Given the description of an element on the screen output the (x, y) to click on. 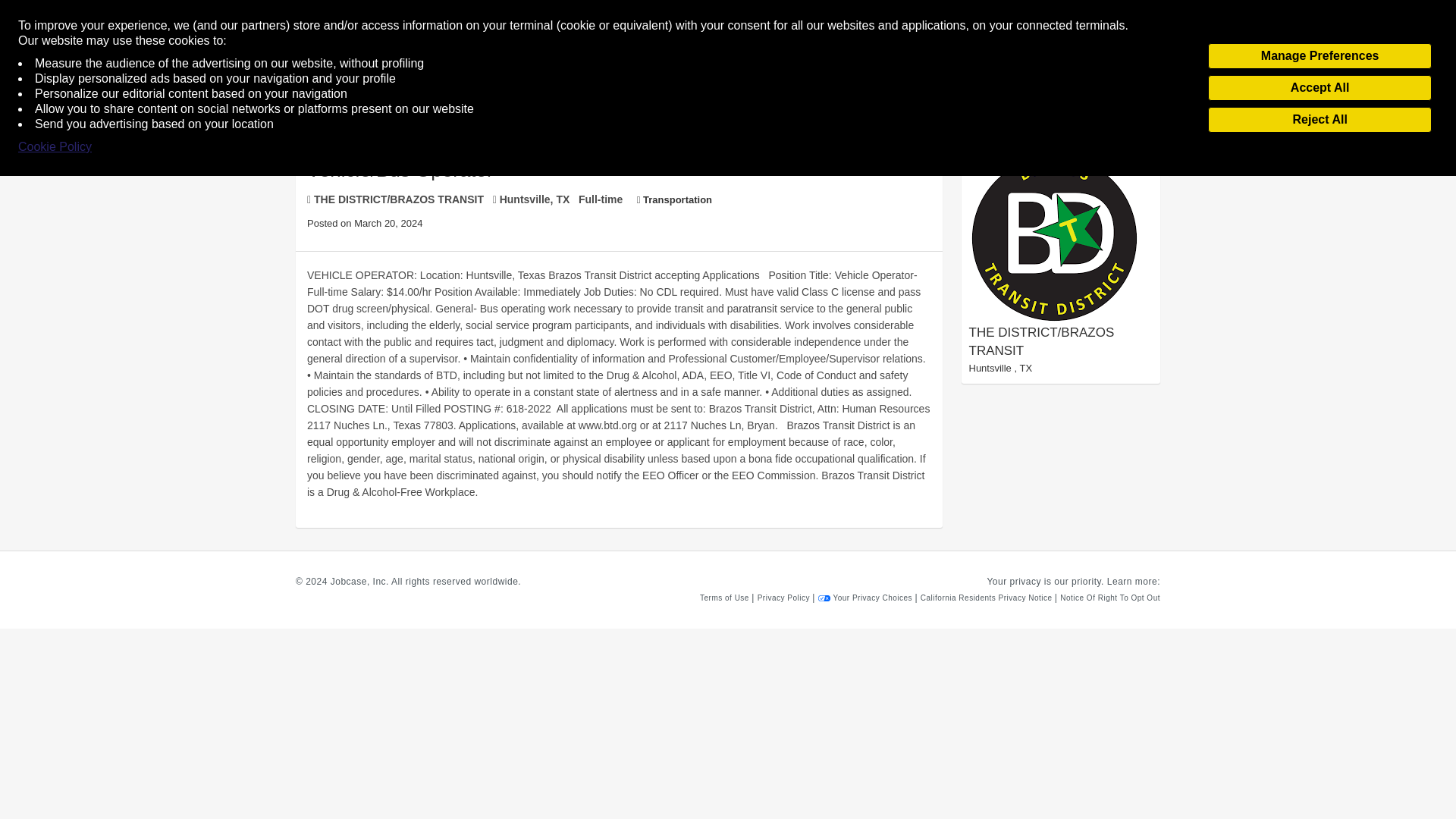
Cookie Policy (54, 146)
Notice Of Right To Opt Out (1109, 597)
Your Privacy Choices (866, 597)
Manage Preferences (1319, 55)
Terms of Use (725, 597)
Reject All (1319, 119)
Back to Results (335, 75)
California Residents Privacy Notice (987, 597)
Accept All (1319, 87)
Privacy Policy (784, 597)
